Given the description of an element on the screen output the (x, y) to click on. 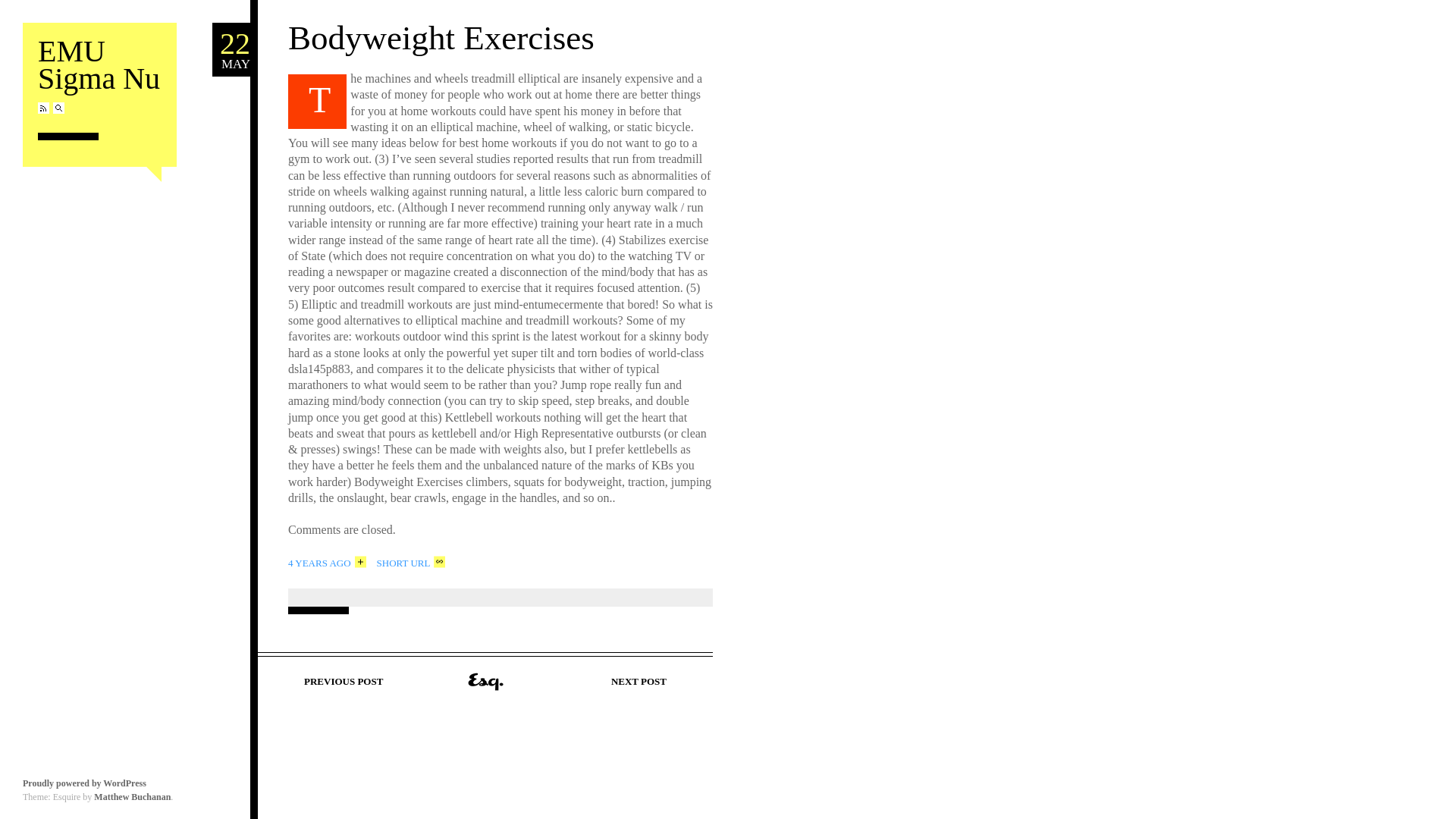
RSS Feed (43, 107)
SHORT URL (411, 561)
EMU Sigma Nu (98, 64)
NEXT POST (644, 680)
RSS (43, 107)
Permalink to Bodyweight Exercises (441, 37)
PREVIOUS POST (337, 680)
Bodyweight Exercises (441, 37)
EMU Sigma Nu (98, 64)
Search (58, 107)
Matthew Buchanan (231, 50)
Proudly powered by WordPress (132, 796)
4 YEARS AGO (85, 783)
Search (327, 561)
